Given the description of an element on the screen output the (x, y) to click on. 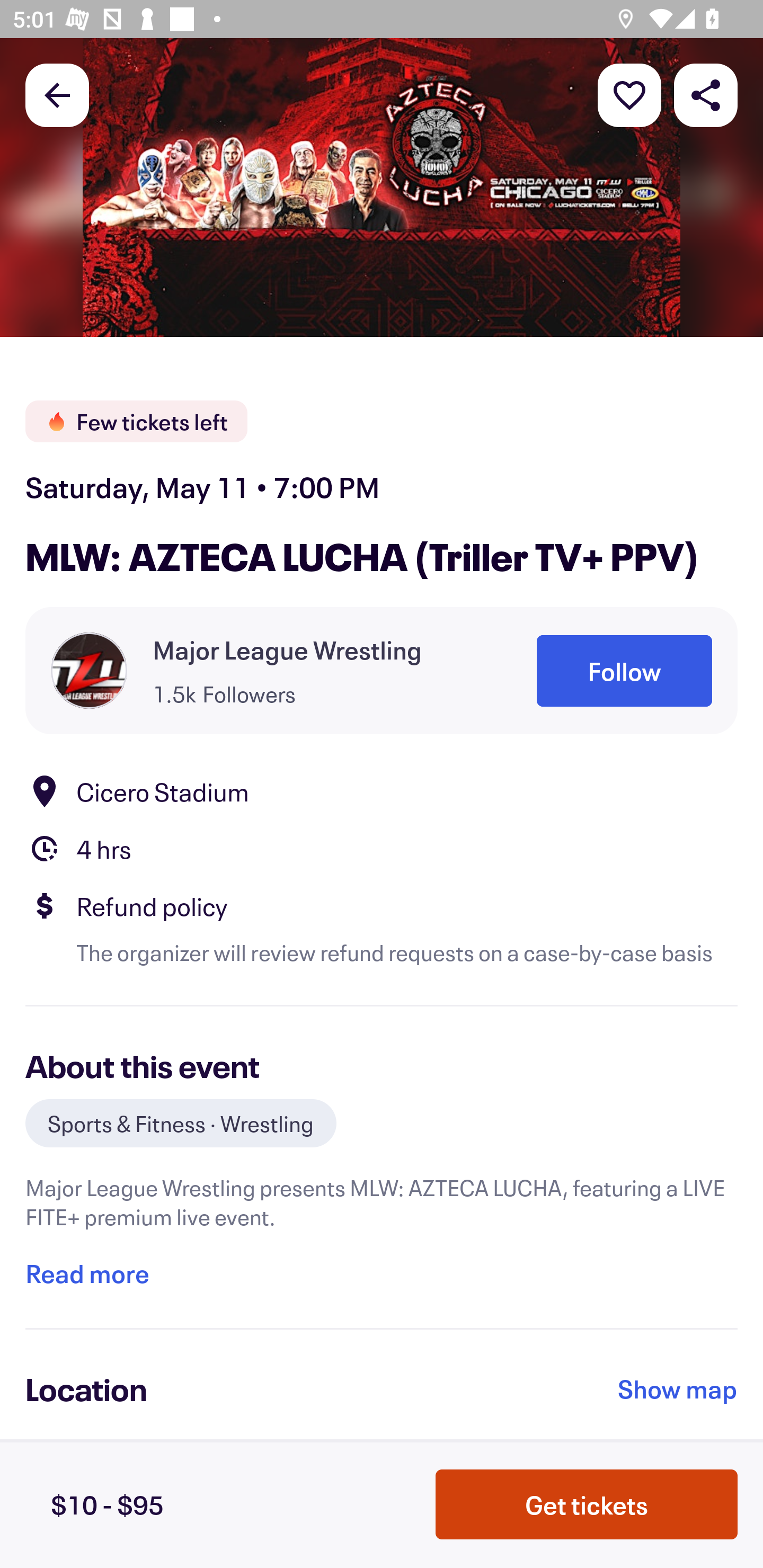
Back (57, 94)
More (629, 94)
Share (705, 94)
Major League Wrestling (286, 649)
Organizer profile picture (89, 669)
Follow (623, 670)
Location Cicero Stadium (381, 790)
Read more (87, 1272)
Show map (677, 1388)
Get tickets (586, 1504)
